Given the description of an element on the screen output the (x, y) to click on. 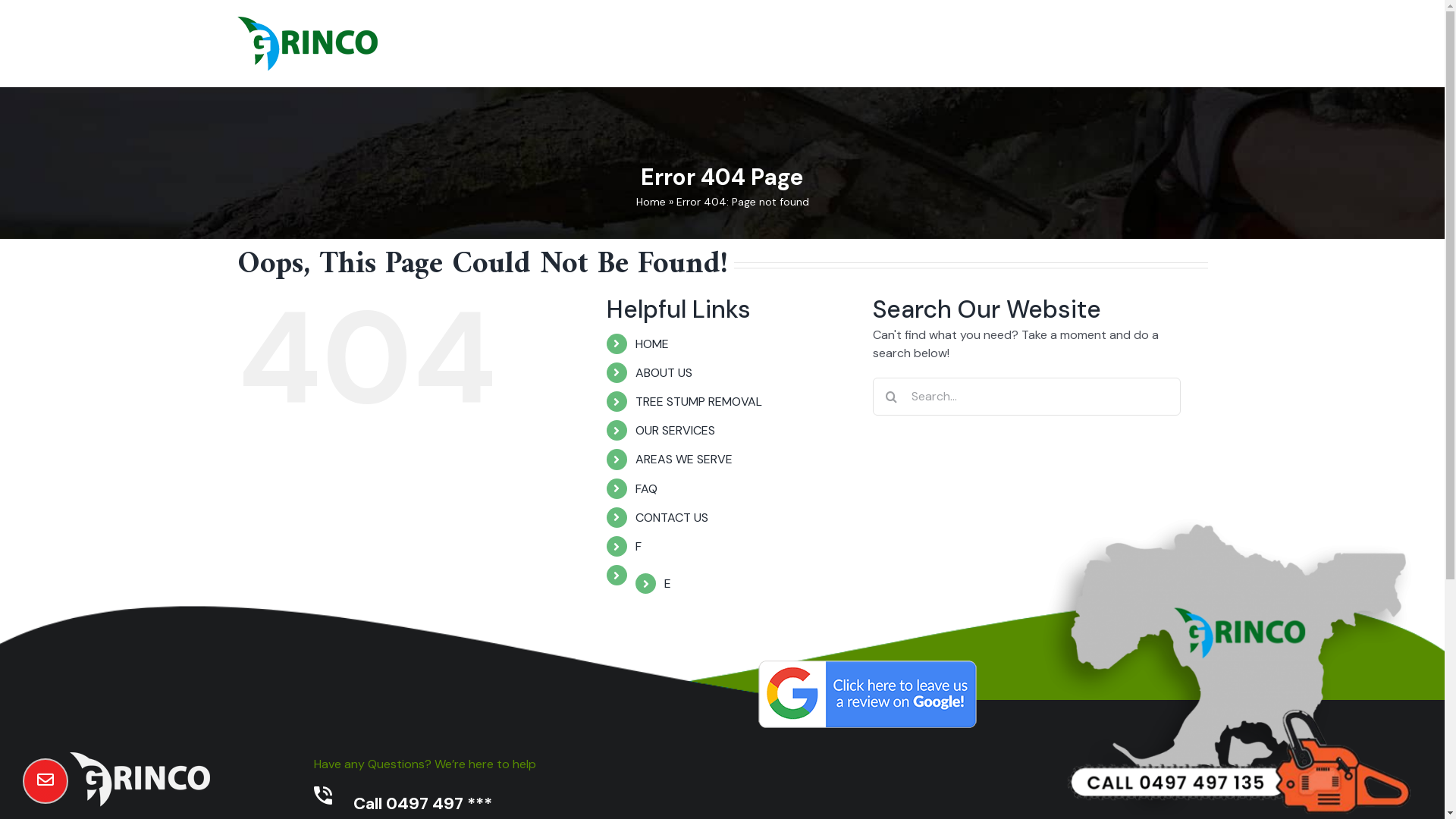
CONTACT US Element type: text (671, 517)
Home Element type: text (650, 201)
FAQ Element type: text (1017, 35)
OUR SERVICES Element type: text (675, 430)
Call 0497 497 *** Element type: text (422, 803)
ABOUT US Element type: text (663, 372)
AREAS WE SERVE Element type: text (683, 459)
AREAS WE SERVE Element type: text (946, 35)
E Element type: text (667, 583)
HOME Element type: text (574, 35)
OUR SERVICES Element type: text (848, 35)
TREE STUMP REMOVAL Element type: text (698, 401)
F Element type: text (638, 546)
CONTACT US Element type: text (1078, 35)
TREE STUMP REMOVAL Element type: text (736, 35)
HOME Element type: text (651, 343)
FAQ Element type: text (646, 488)
ABOUT US Element type: text (634, 35)
